Given the description of an element on the screen output the (x, y) to click on. 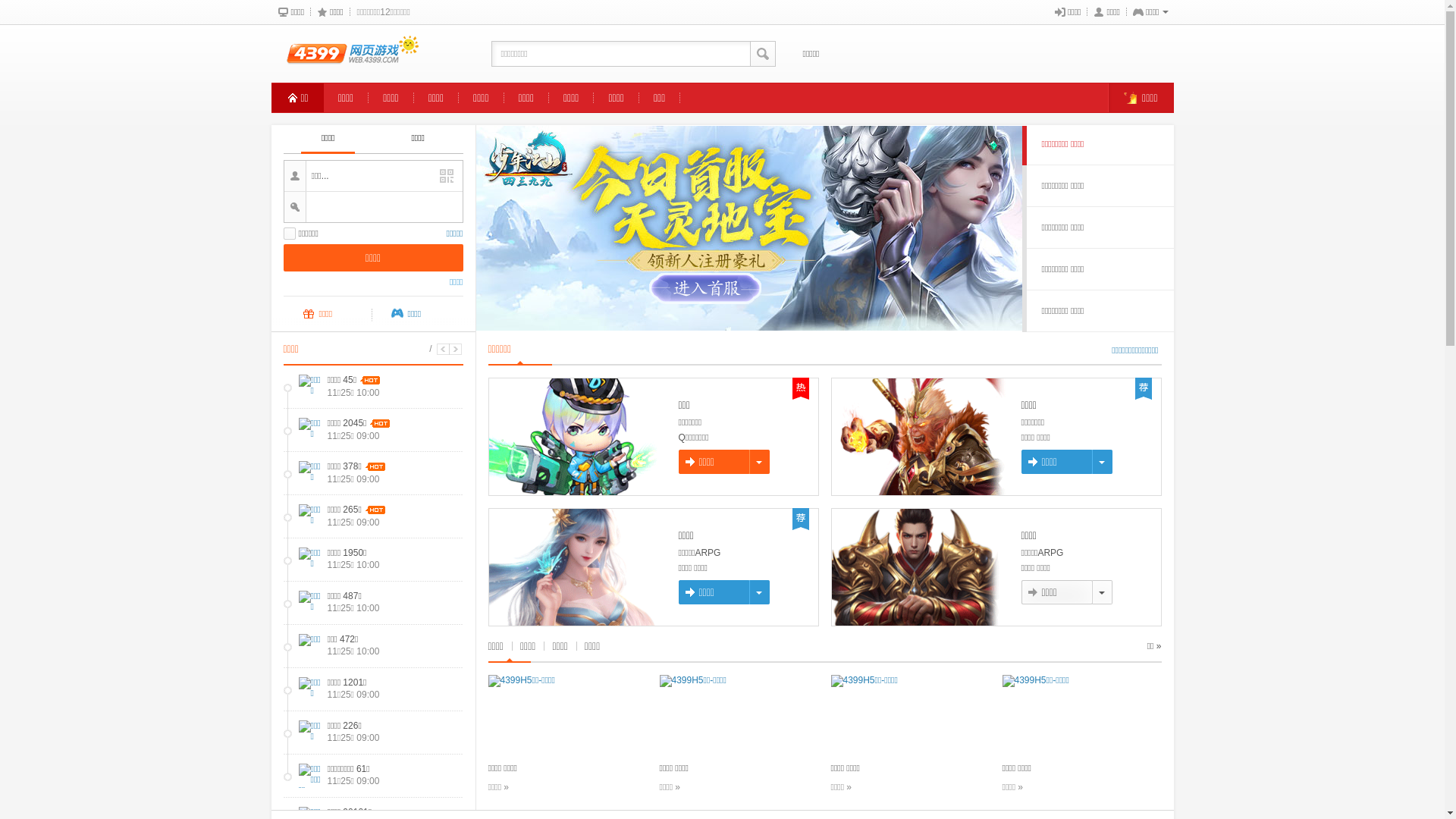
0 Element type: text (749, 228)
0 Element type: text (749, 435)
0 Element type: text (749, 641)
